Given the description of an element on the screen output the (x, y) to click on. 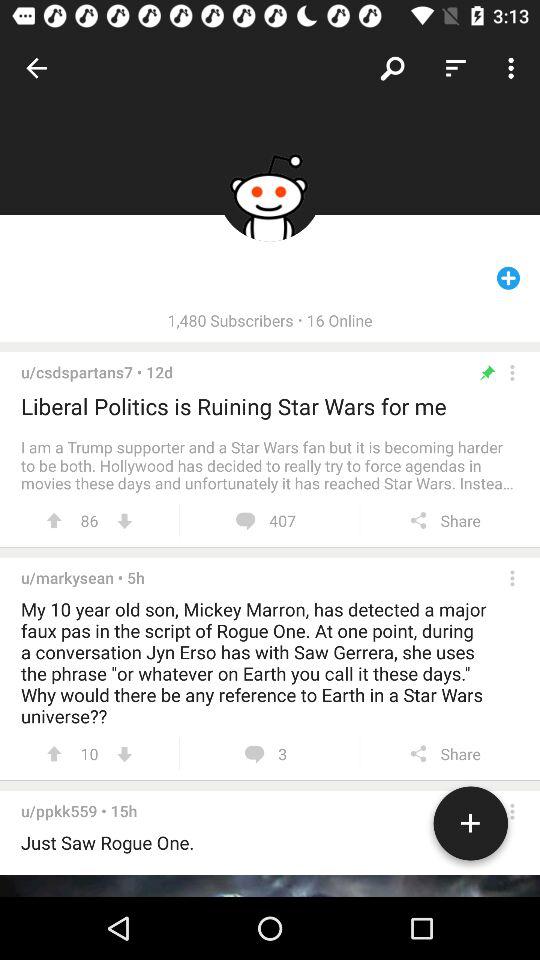
opens a menu (512, 811)
